Given the description of an element on the screen output the (x, y) to click on. 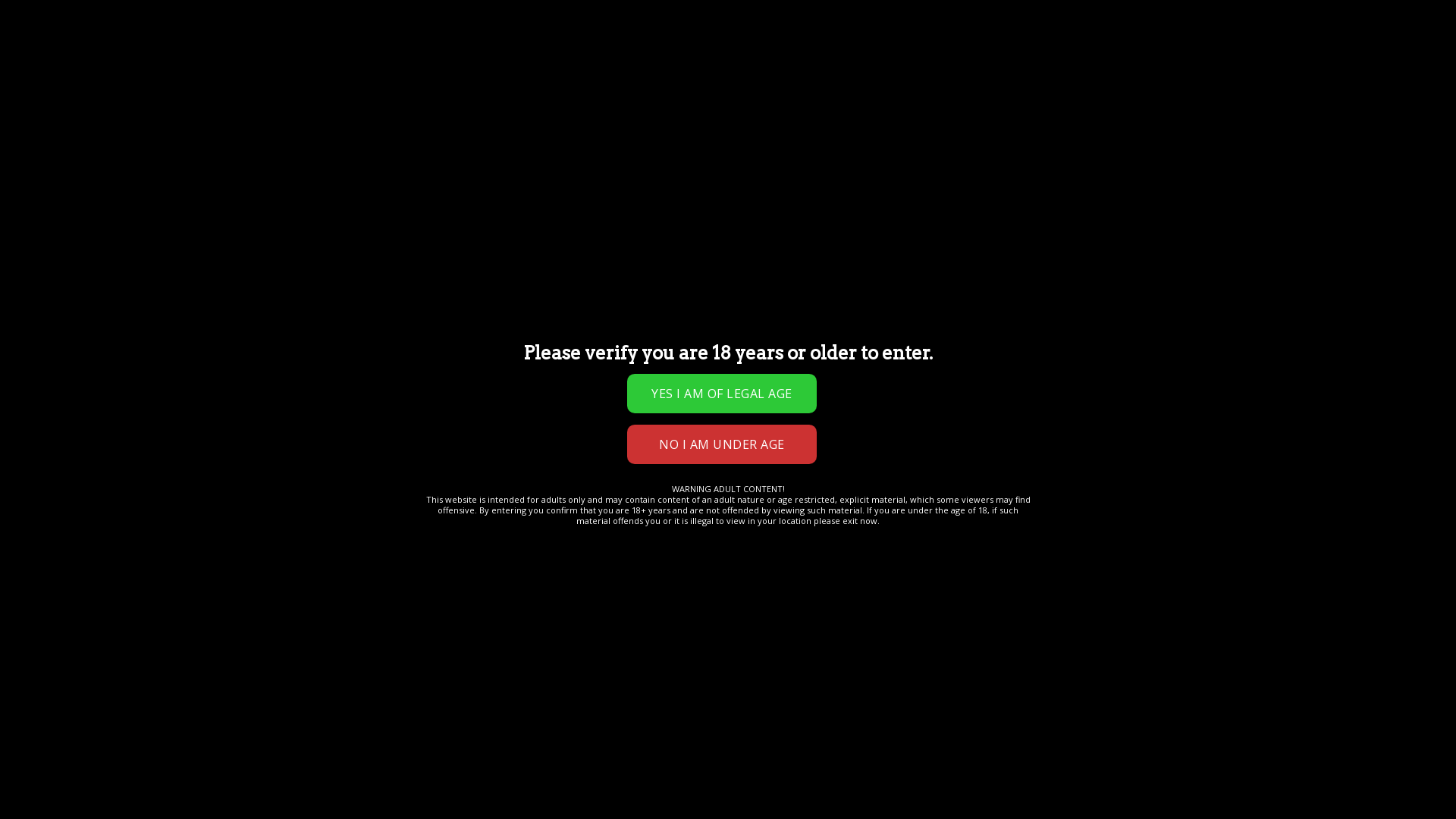
TERPENES Element type: text (445, 84)
Share on LinkedIn Element type: hover (645, 406)
Pin on Pinterest Element type: hover (618, 406)
Share on Facebook Element type: hover (536, 406)
HOME Element type: text (66, 159)
Share on Twitter Element type: hover (564, 406)
WATER CHILLERS Element type: text (153, 114)
Email to a Friend Element type: hover (591, 406)
EXTRACTION PARTS Element type: text (175, 159)
LOGIN / REGISTER Element type: text (681, 33)
Search Element type: text (404, 34)
WHOLESALE Element type: text (552, 114)
EXTRACTION PARTS Element type: text (299, 84)
VAPES Element type: text (384, 84)
420 PMUK - THE UK'S CLOSED LOOP SPECIALISTS Element type: hover (100, 34)
PUMPS Element type: text (73, 114)
DRYING OVENS Element type: text (528, 84)
CUSTOM PRINT Element type: text (254, 114)
Packing Rods Element type: text (597, 372)
ACCESSORIES Element type: text (391, 114)
PACKAGING Element type: text (779, 84)
DETOX Element type: text (325, 114)
Zoom Element type: hover (201, 487)
RECOURSES Element type: text (473, 114)
CONTACT US Element type: text (117, 84)
HOME Element type: text (60, 84)
DESCRIPTION Element type: text (78, 551)
SOLVENTS Element type: text (702, 84)
ADD TO BASKET Element type: text (670, 317)
EXTRACTION Element type: text (198, 84)
SOLVENTLESS Element type: text (621, 84)
PACKING RODS Element type: text (314, 159)
